Given the description of an element on the screen output the (x, y) to click on. 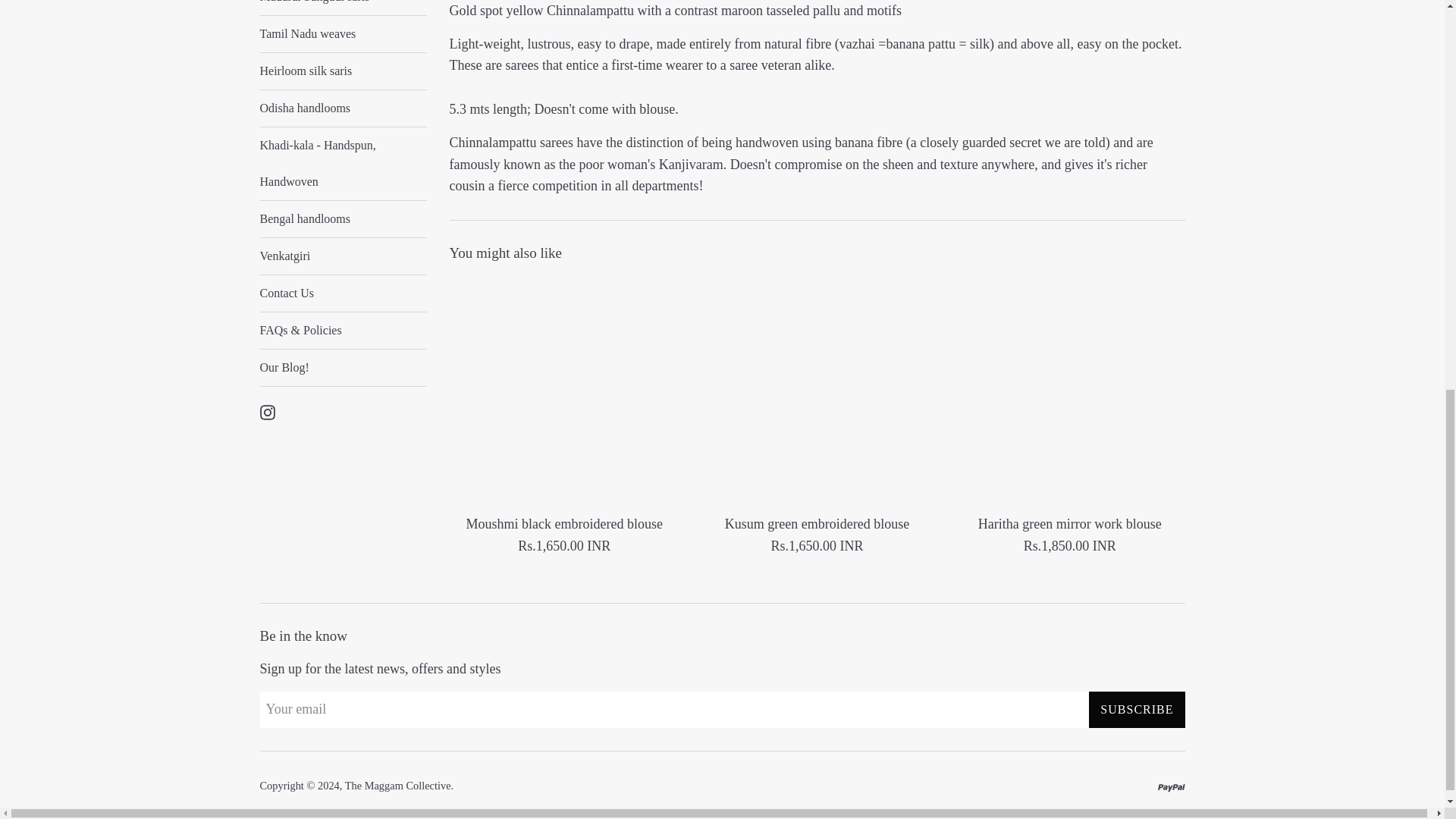
Kusum green embroidered blouse (816, 391)
Haritha green mirror work blouse (1070, 391)
Odisha handlooms (342, 108)
Tamil Nadu weaves (342, 33)
Instagram (267, 410)
Venkatgiri (342, 256)
Bengal handlooms (342, 218)
The Maggam Collective on Instagram (267, 410)
Contact Us (342, 293)
Heirloom silk saris (342, 71)
